Given the description of an element on the screen output the (x, y) to click on. 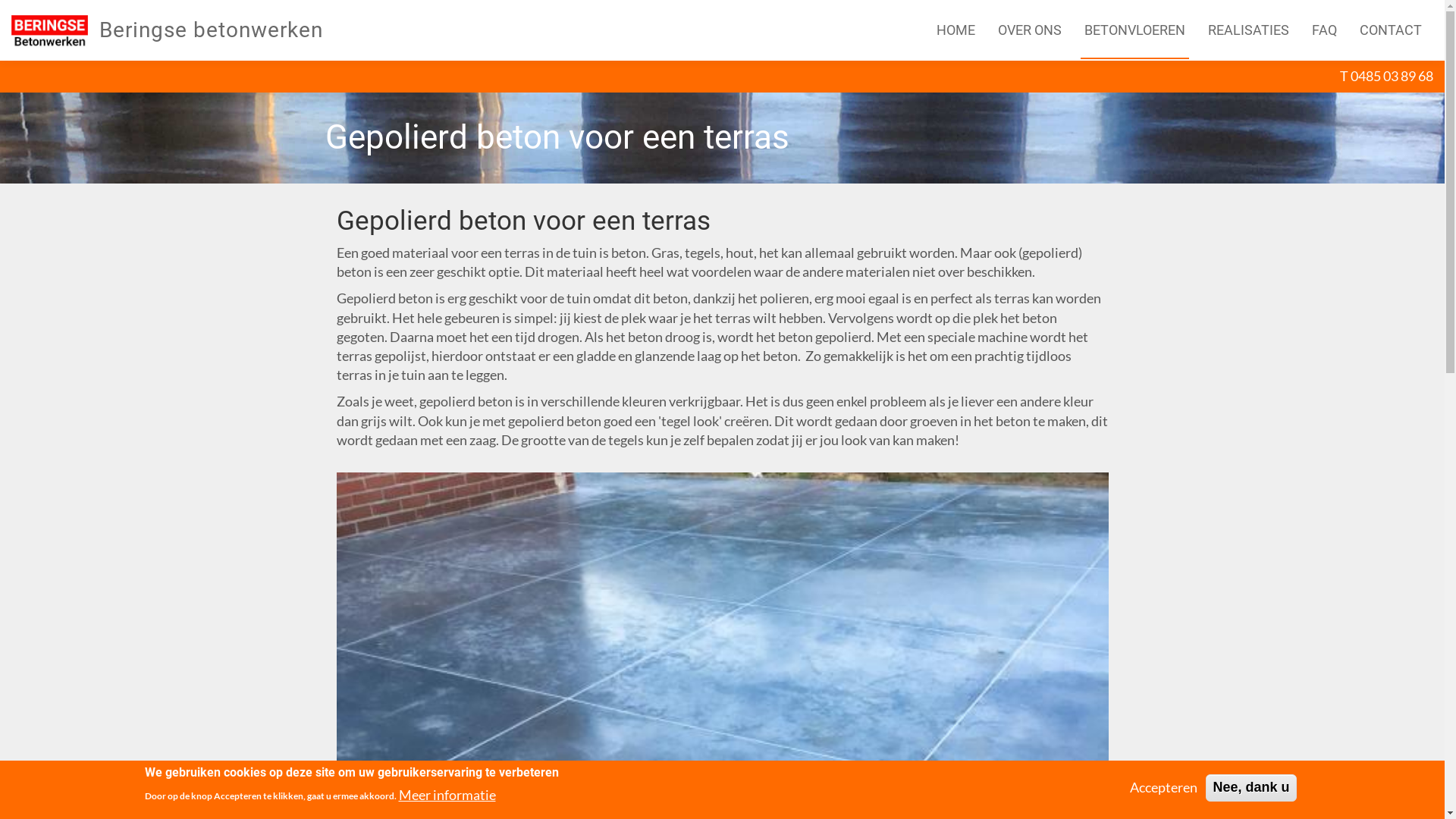
OVER ONS Element type: text (1029, 30)
Overslaan en naar de inhoud gaan Element type: text (0, 60)
Home Element type: hover (55, 30)
T 0485 03 89 68 Element type: text (1386, 75)
CONTACT Element type: text (1390, 30)
Nee, dank u Element type: text (1250, 787)
FAQ Element type: text (1324, 30)
Accepteren Element type: text (1163, 787)
BETONVLOEREN Element type: text (1134, 30)
HOME Element type: text (955, 30)
Beringse betonwerken Element type: text (216, 30)
REALISATIES Element type: text (1248, 30)
Meer informatie Element type: text (446, 793)
